Given the description of an element on the screen output the (x, y) to click on. 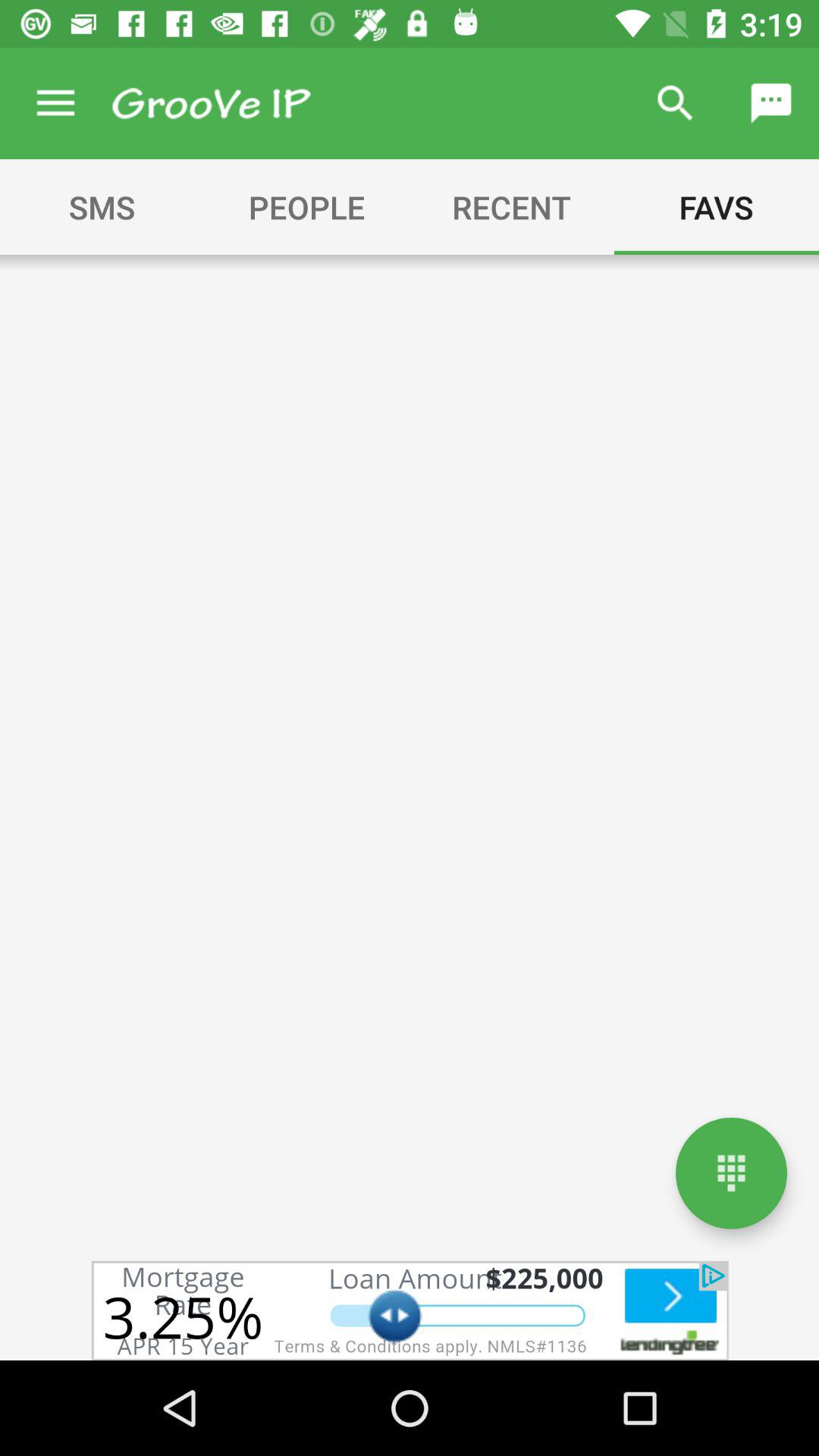
go to grooveip homepage (210, 103)
